Given the description of an element on the screen output the (x, y) to click on. 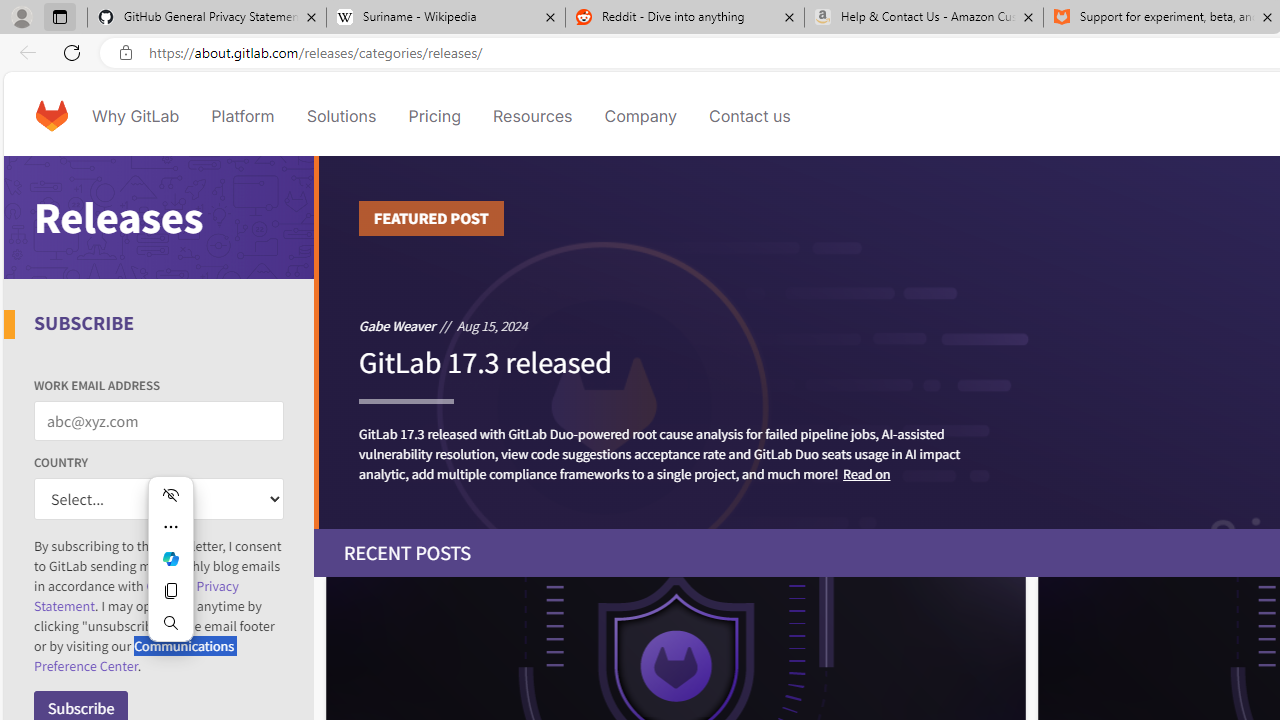
Gabe Weaver (397, 325)
Pricing (433, 115)
COUNTRY (159, 499)
GitLab's Privacy Statement (136, 596)
Pricing (433, 115)
Platform (242, 115)
Resources (532, 115)
Company (640, 115)
Copy (170, 590)
Ask Copilot (170, 558)
Contact us (749, 115)
Mini menu on text selection (170, 558)
GitLab 17.3 released (484, 371)
